Given the description of an element on the screen output the (x, y) to click on. 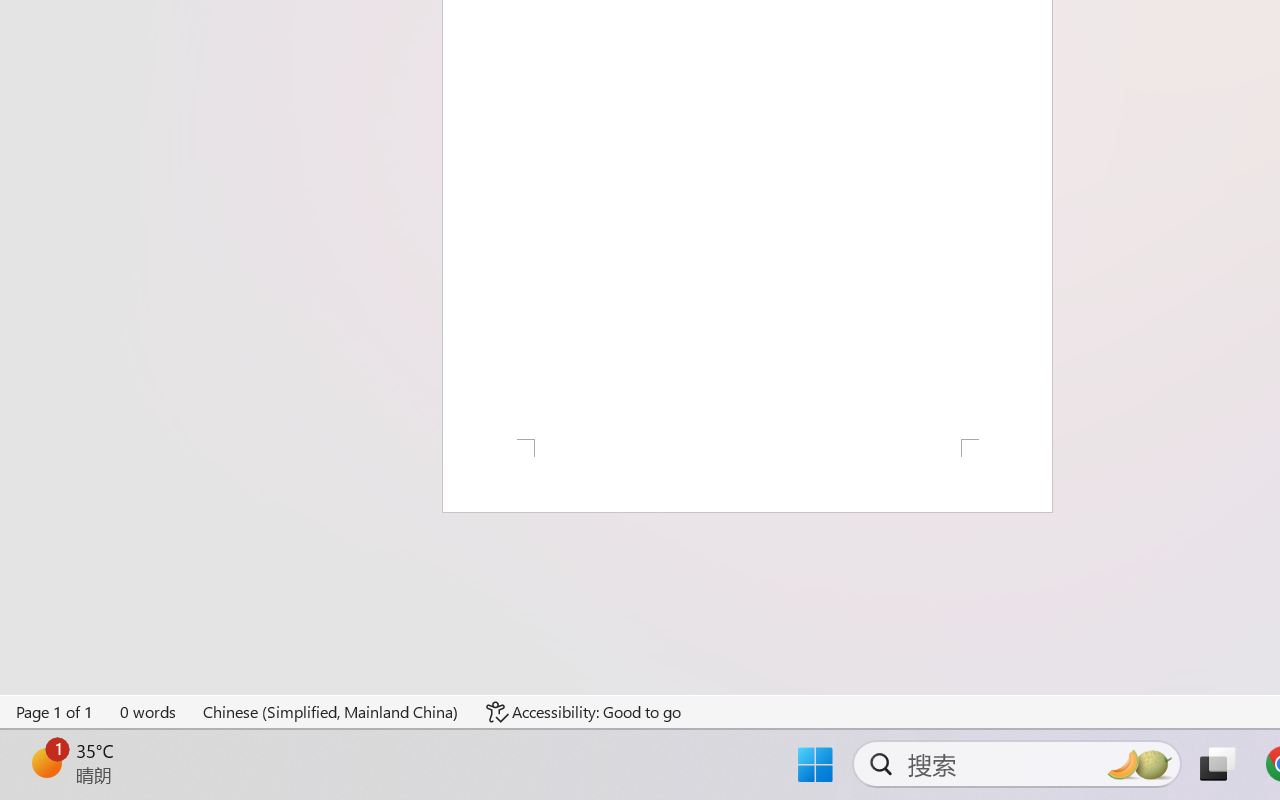
Opdaterings (152, 224)
Sleutelbegrippe (152, 122)
Vennote (152, 174)
Fotobeeld van Google (924, 445)
Dataoordragraamwerke (152, 72)
Doen die Privaatheidskontrole (1066, 155)
Geargiveerde weergawes (1183, 235)
